Given the description of an element on the screen output the (x, y) to click on. 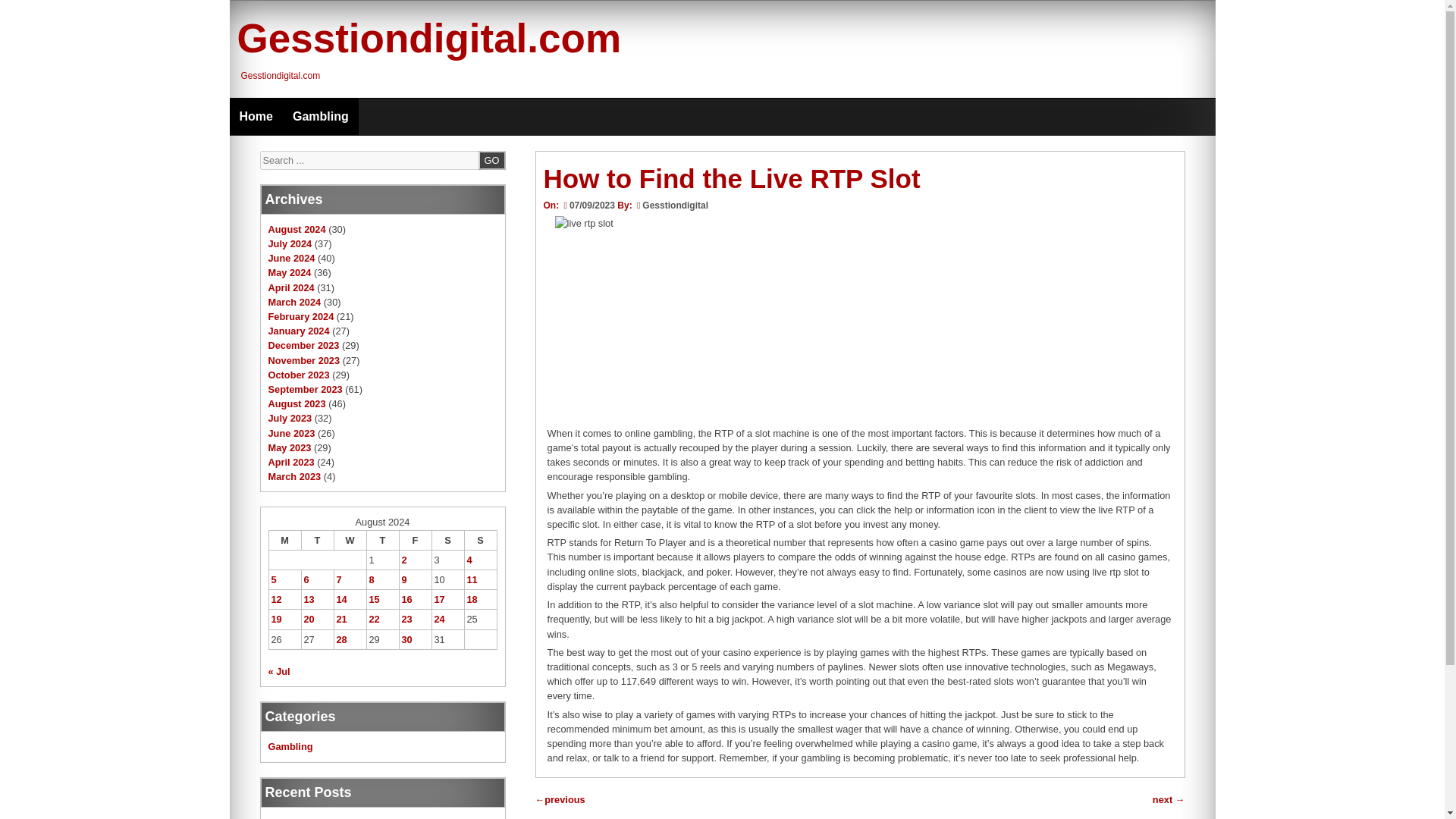
14 (341, 599)
Gesstiondigital (674, 204)
January 2024 (298, 330)
April 2024 (290, 287)
May 2024 (289, 272)
June 2023 (291, 432)
13 (308, 599)
April 2023 (290, 461)
Sunday (480, 539)
Saturday (447, 539)
